Given the description of an element on the screen output the (x, y) to click on. 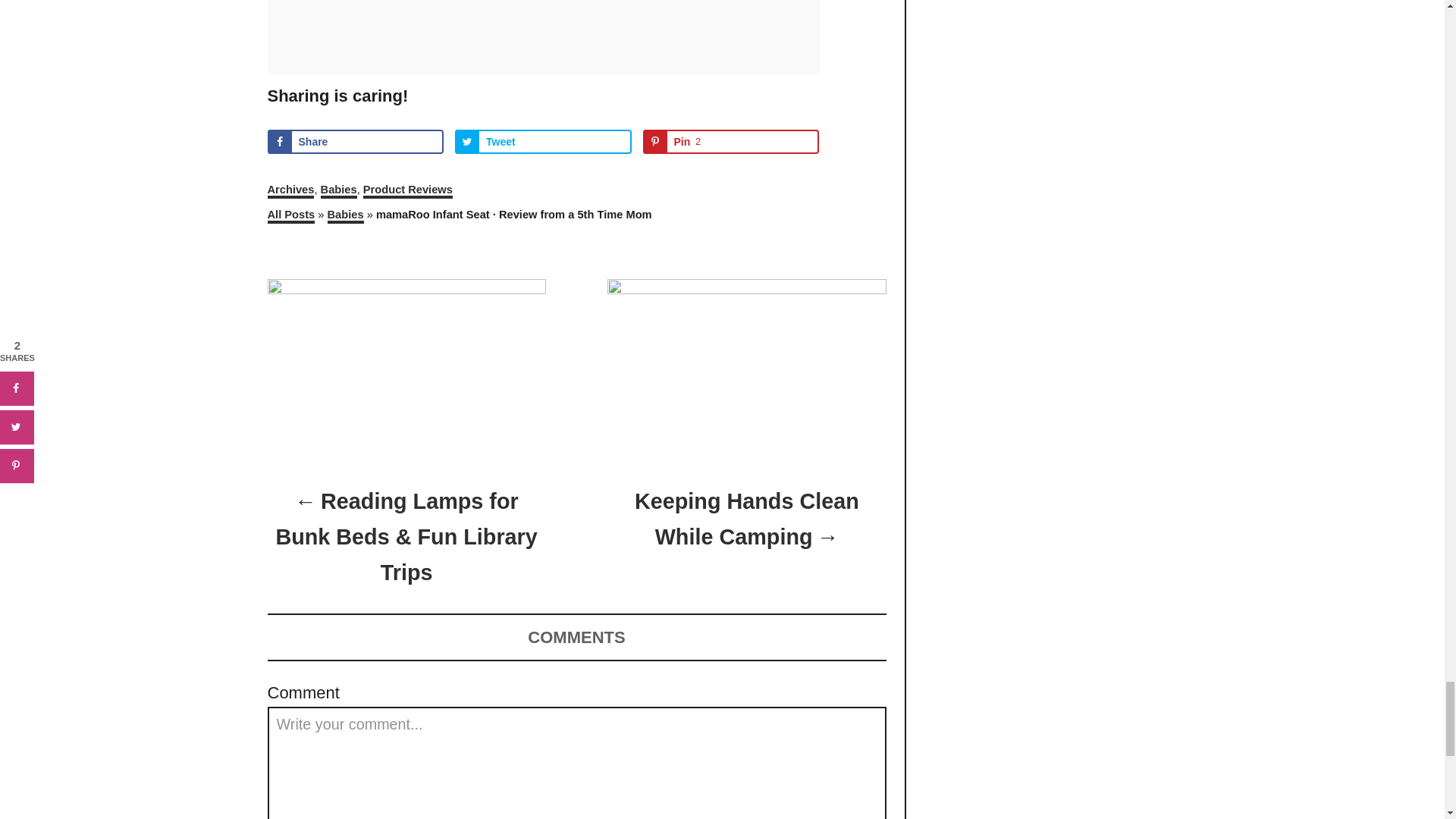
Share on Facebook (355, 141)
Share on Twitter (542, 141)
Save to Pinterest (731, 141)
